Given the description of an element on the screen output the (x, y) to click on. 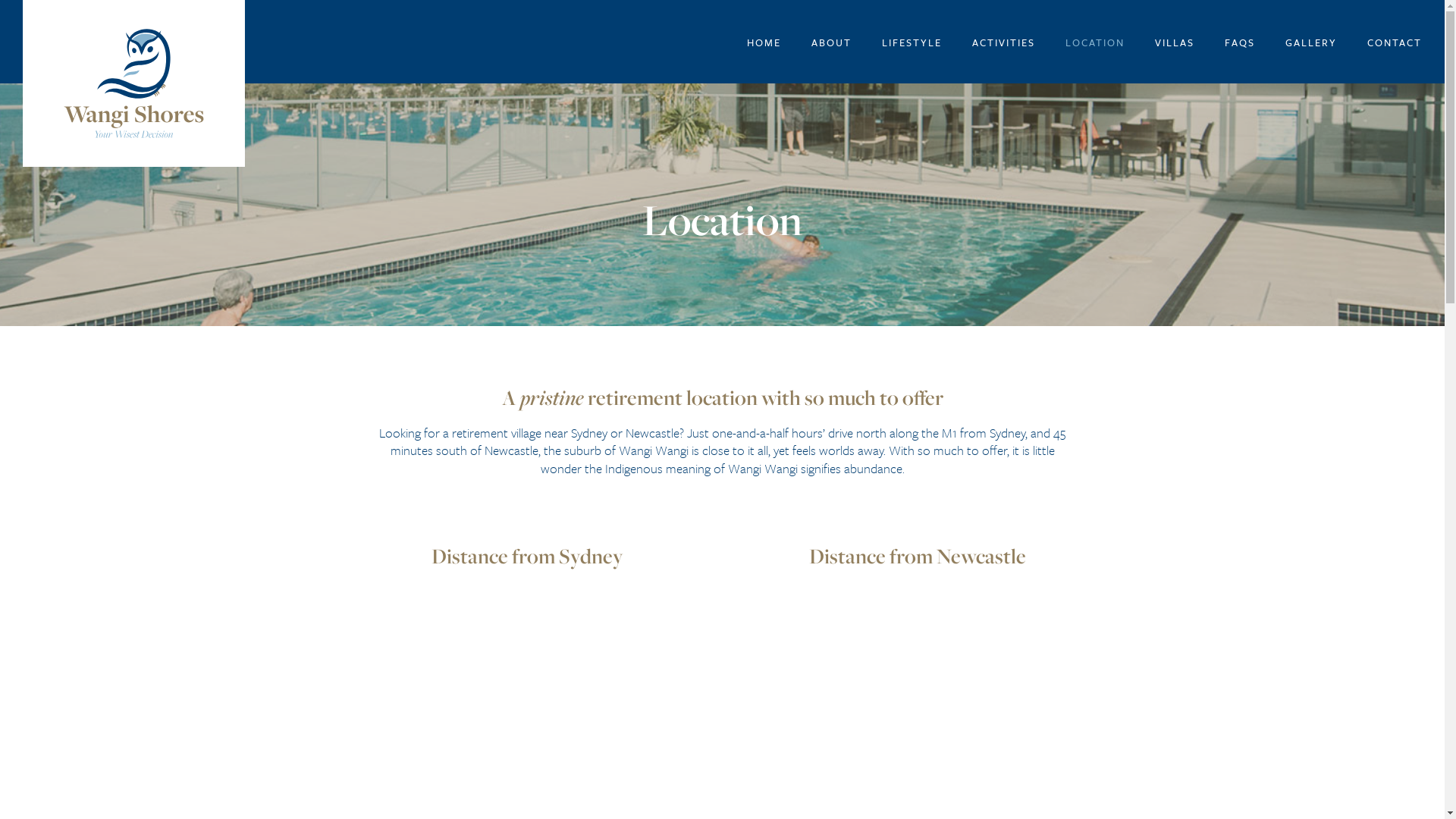
FAQS Element type: text (1239, 41)
LIFESTYLE Element type: text (911, 41)
GALLERY Element type: text (1311, 41)
LOCATION Element type: text (1094, 41)
ACTIVITIES Element type: text (1003, 41)
HOME Element type: text (763, 41)
CONTACT Element type: text (1394, 41)
VILLAS Element type: text (1174, 41)
ABOUT Element type: text (831, 41)
